Given the description of an element on the screen output the (x, y) to click on. 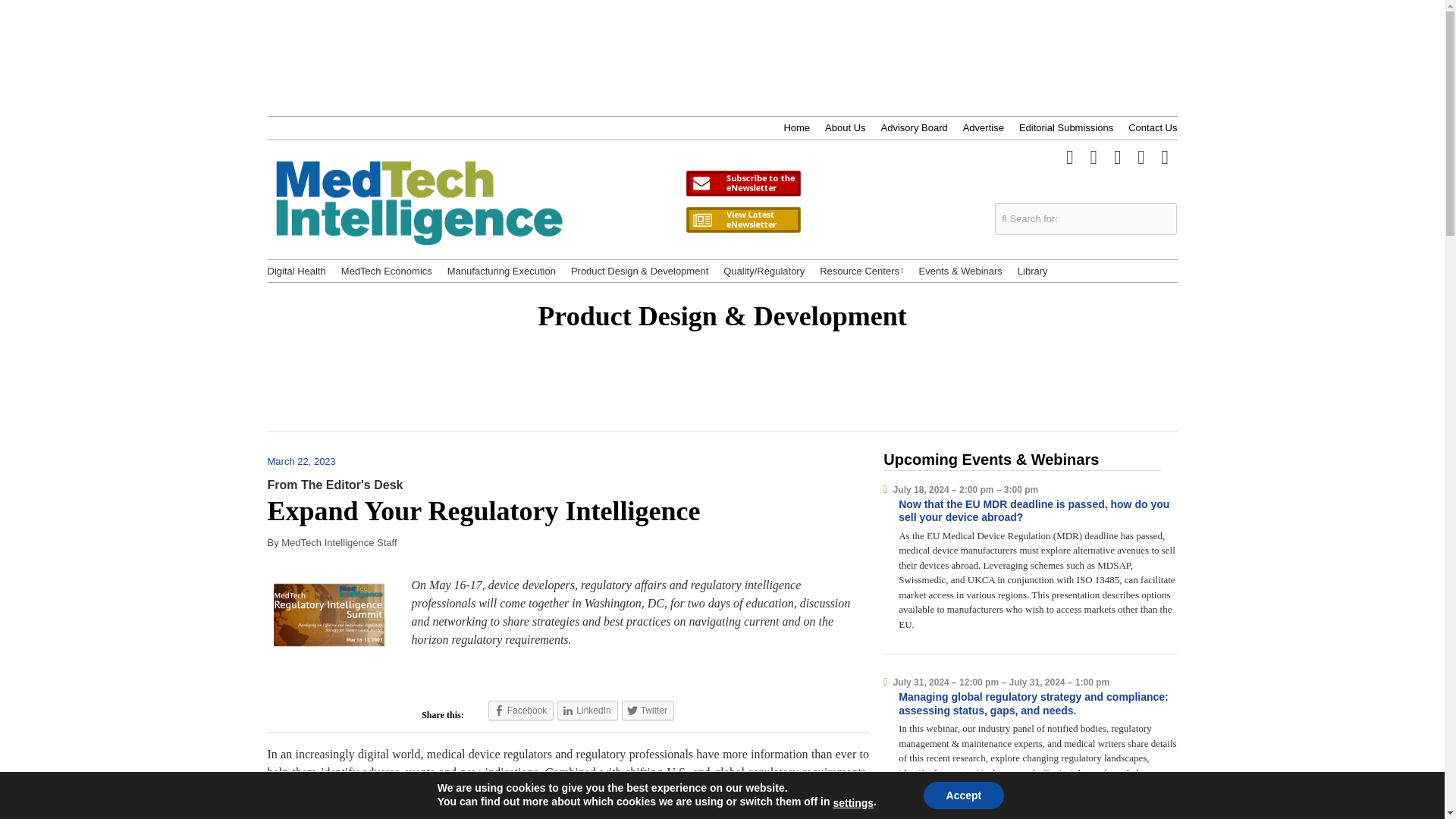
View The Latest Newsletter (742, 219)
Resource Centers (860, 271)
Follow me on Twitter (1069, 155)
Digital Health (295, 271)
Connect with me on LinkedIn (1117, 155)
Friend me on Facebook (1093, 155)
Home (796, 127)
Connect with me on LinkedIn (1117, 155)
March 22, 2023 (308, 460)
Get The Newsletter! (742, 183)
Editorial Submissions (1066, 127)
Twitter (647, 710)
Manufacturing Execution (501, 271)
Get The Newsletter! (742, 183)
MedTech Intelligence (418, 221)
